Given the description of an element on the screen output the (x, y) to click on. 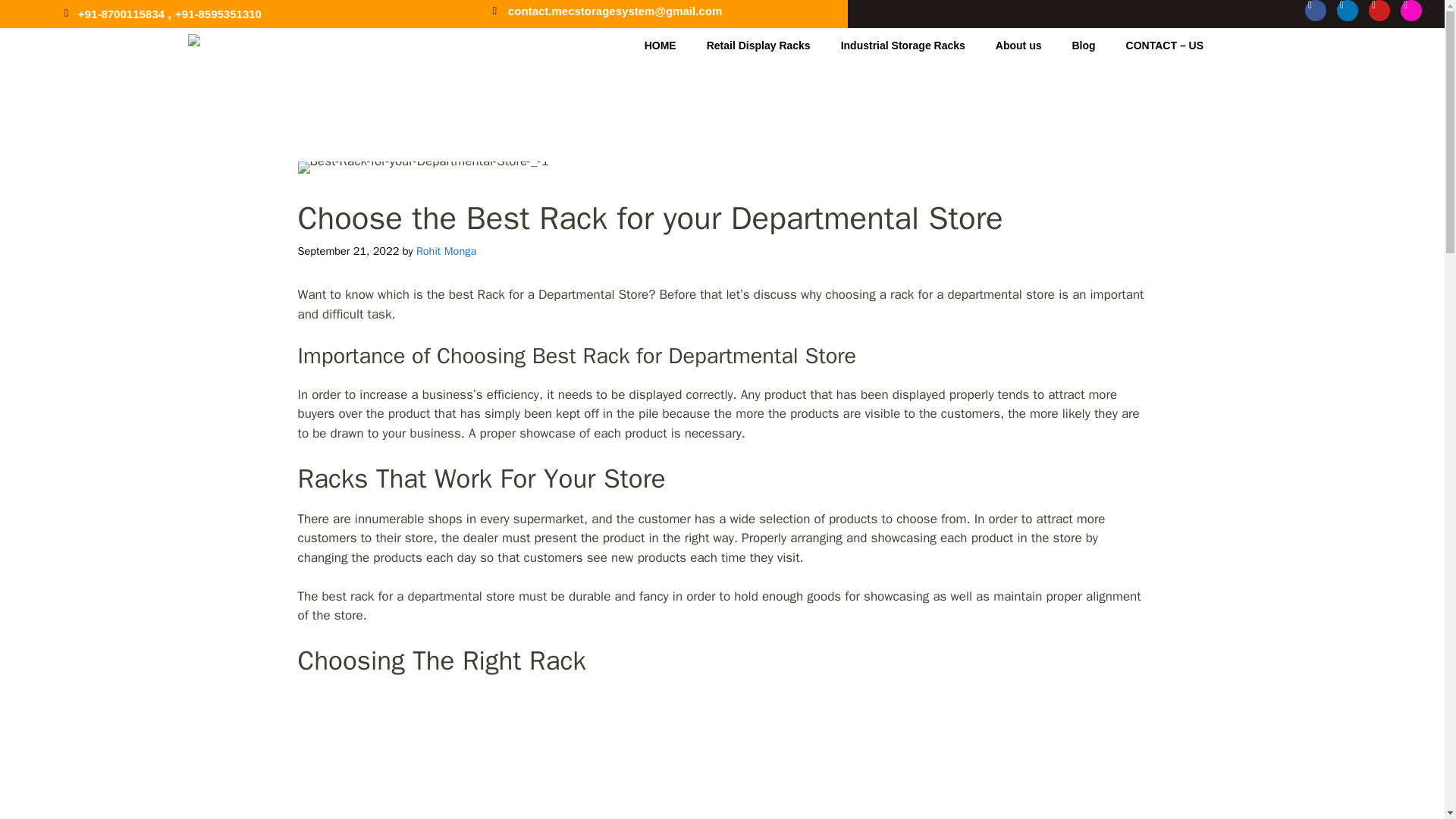
HOME (659, 28)
Industrial Storage Racks (902, 37)
About us (1018, 40)
Retail Display Racks (758, 30)
Blog (1083, 41)
View all posts by Rohit Monga (446, 250)
